Given the description of an element on the screen output the (x, y) to click on. 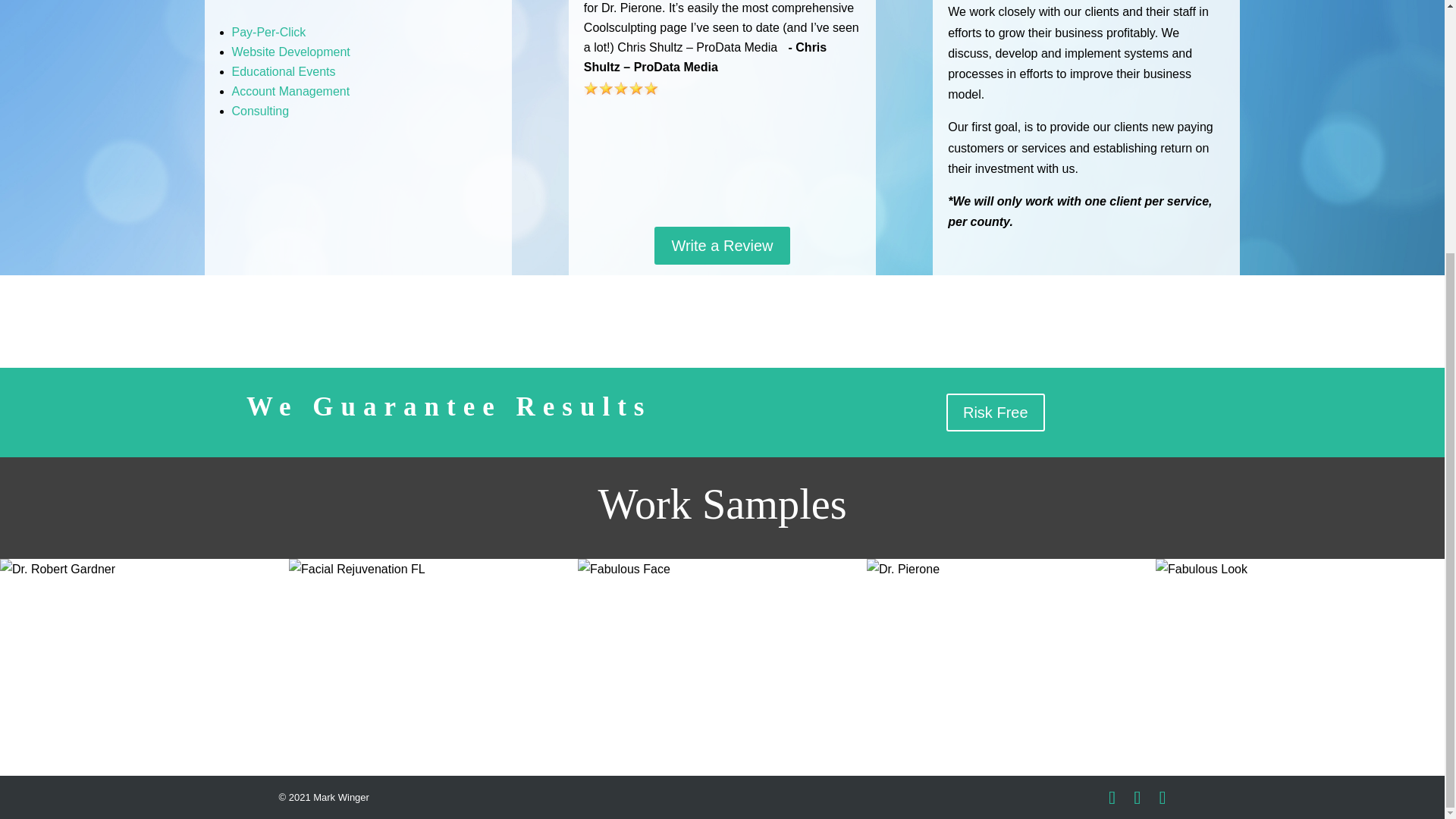
Consulting (260, 110)
Pay-Per-Click (268, 31)
Account Management (290, 91)
Educational Events (283, 71)
Write a Review (721, 245)
Website Development (290, 51)
We Guarantee Results (448, 406)
Risk Free (995, 412)
